Given the description of an element on the screen output the (x, y) to click on. 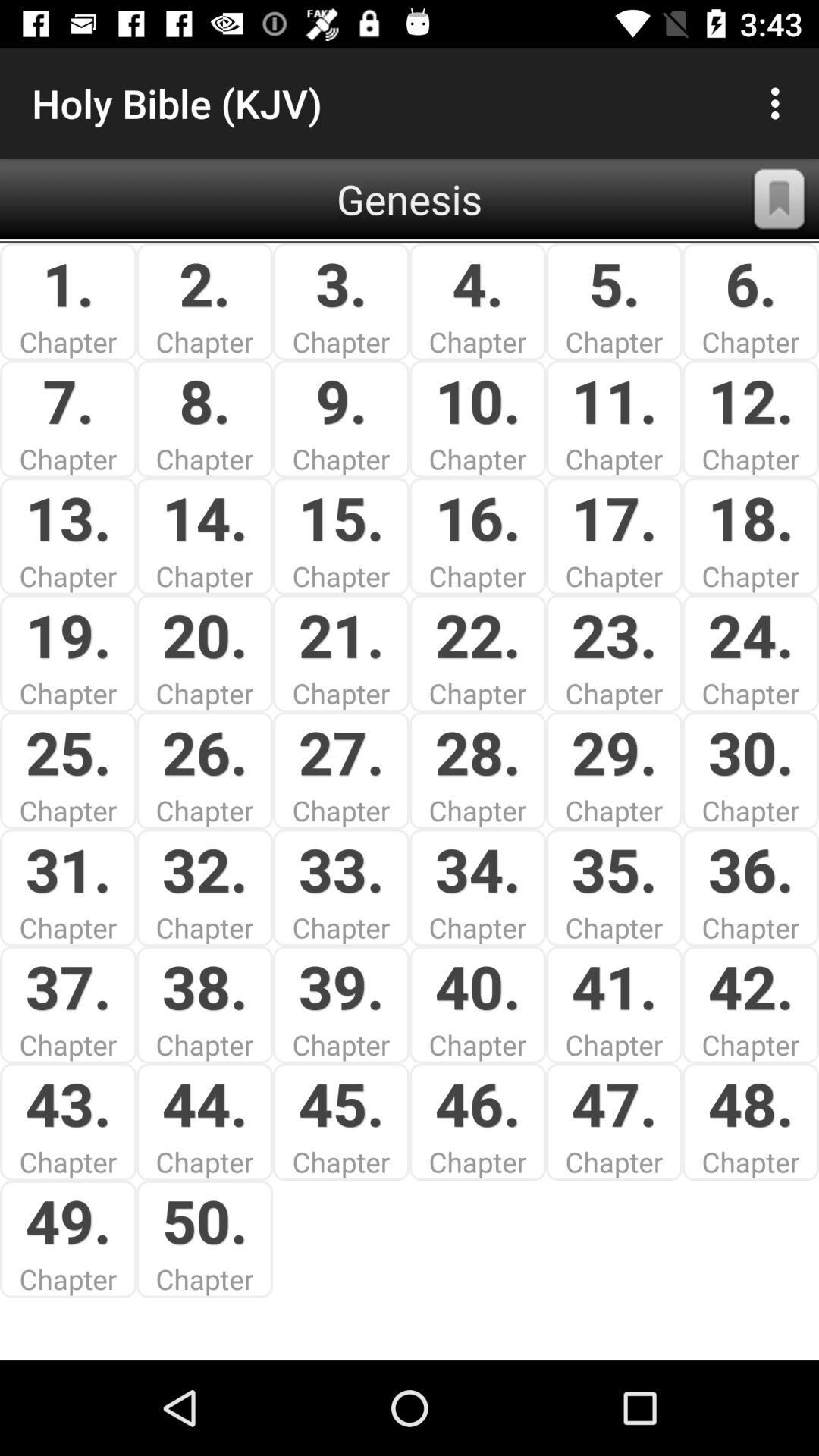
select the app next to the 5. (779, 198)
